Given the description of an element on the screen output the (x, y) to click on. 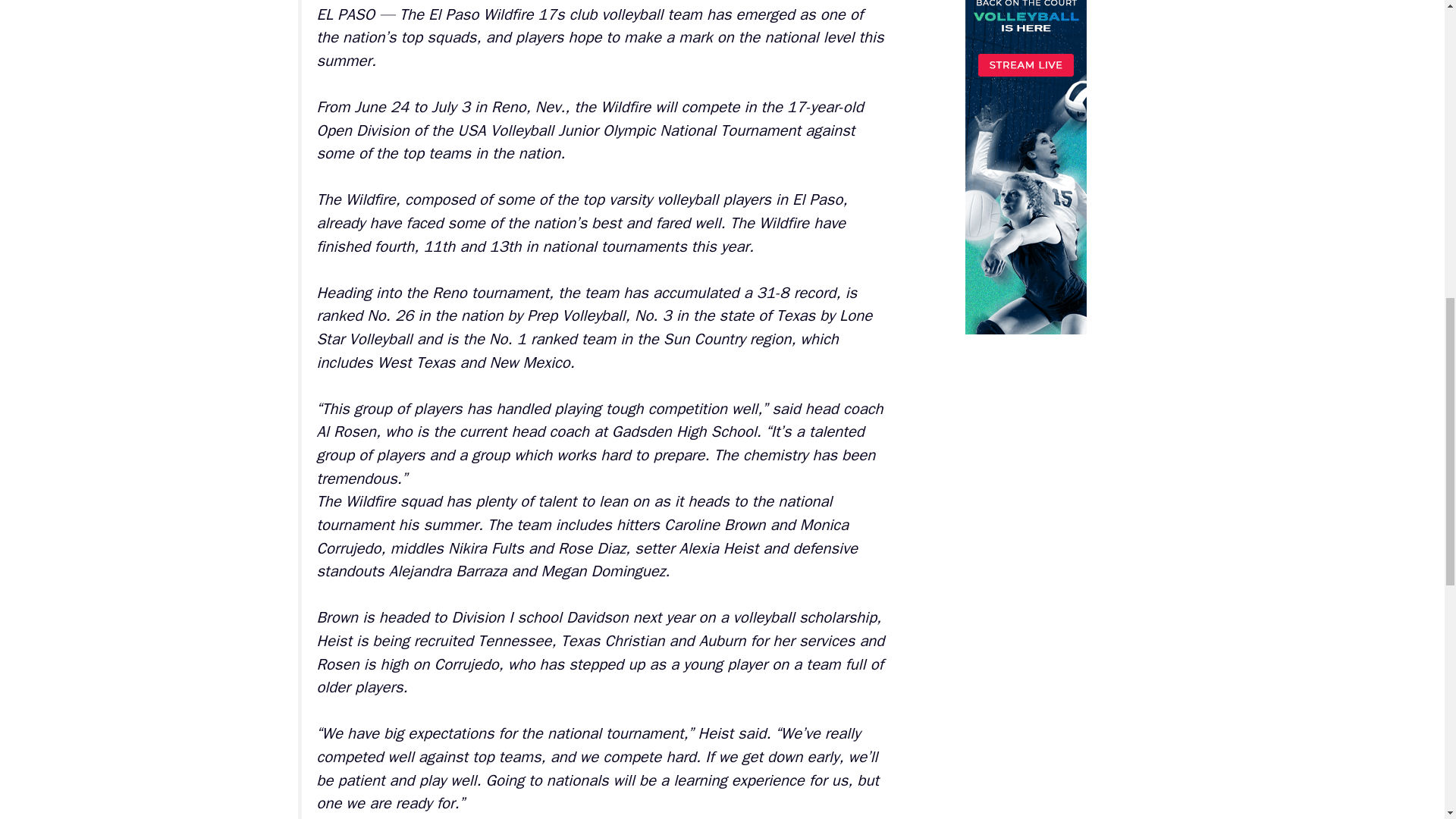
Scroll back to top (1406, 720)
